Given the description of an element on the screen output the (x, y) to click on. 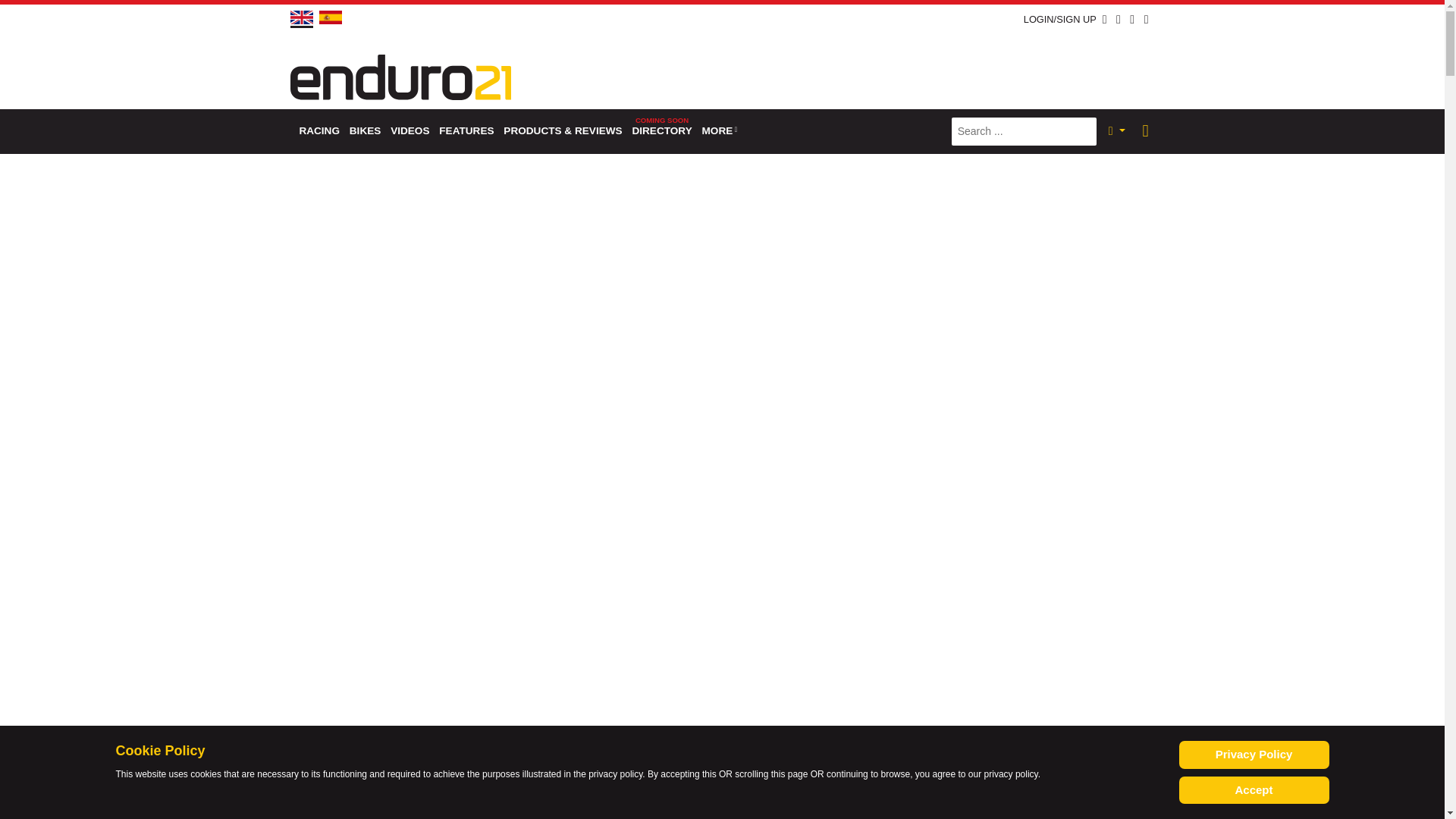
3rd party ad content (878, 69)
DIRECTORY (662, 130)
MORE (719, 130)
RACING (318, 130)
BIKES (364, 130)
FEATURES (466, 130)
VIDEOS (409, 130)
